Given the description of an element on the screen output the (x, y) to click on. 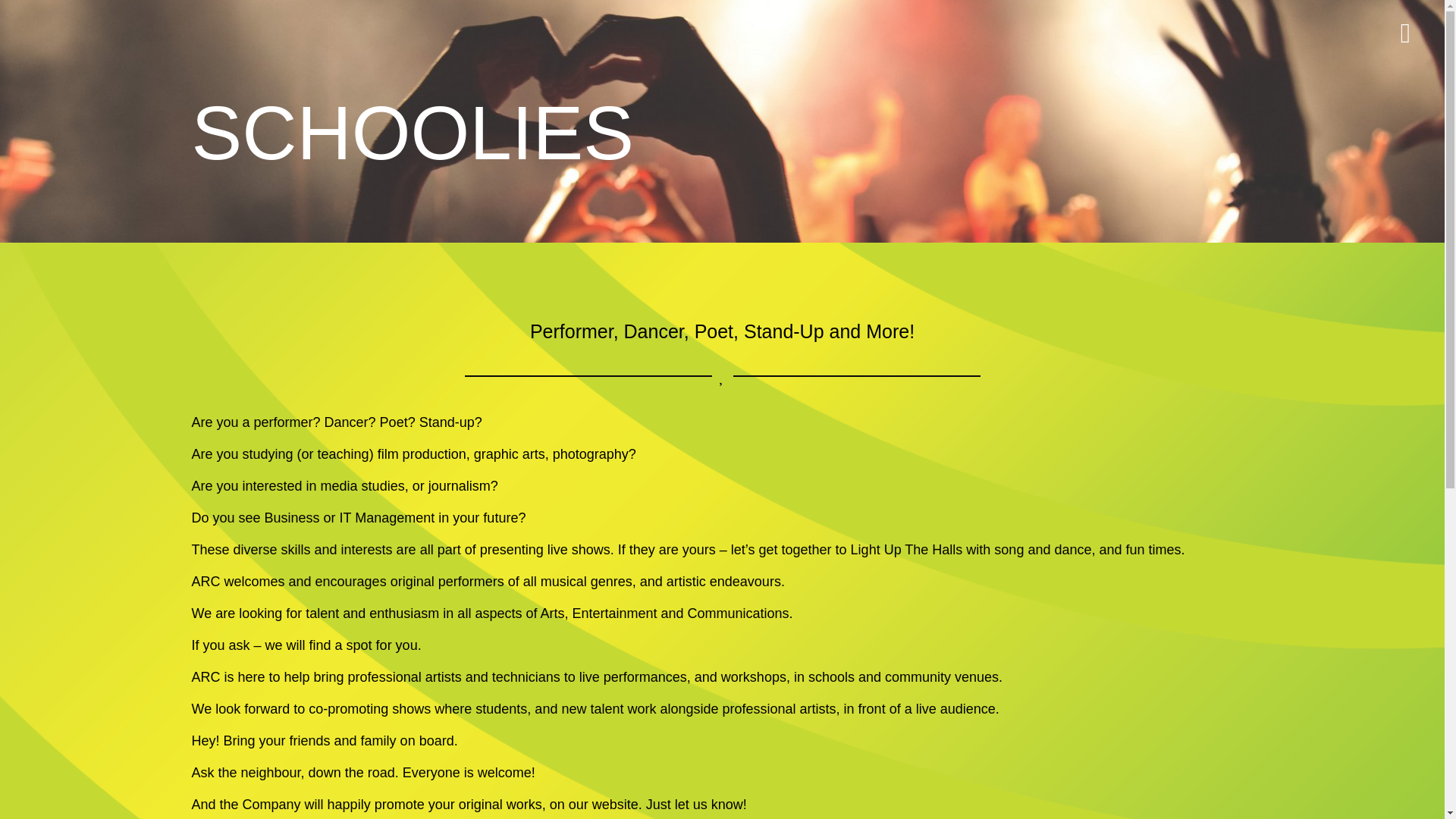
Support (587, 710)
Contact Us (774, 710)
Radio (758, 670)
Archives (767, 690)
About (581, 670)
needed to make you aware of some stuff (764, 807)
Aims (579, 690)
Artists (759, 651)
Overview (592, 651)
